Given the description of an element on the screen output the (x, y) to click on. 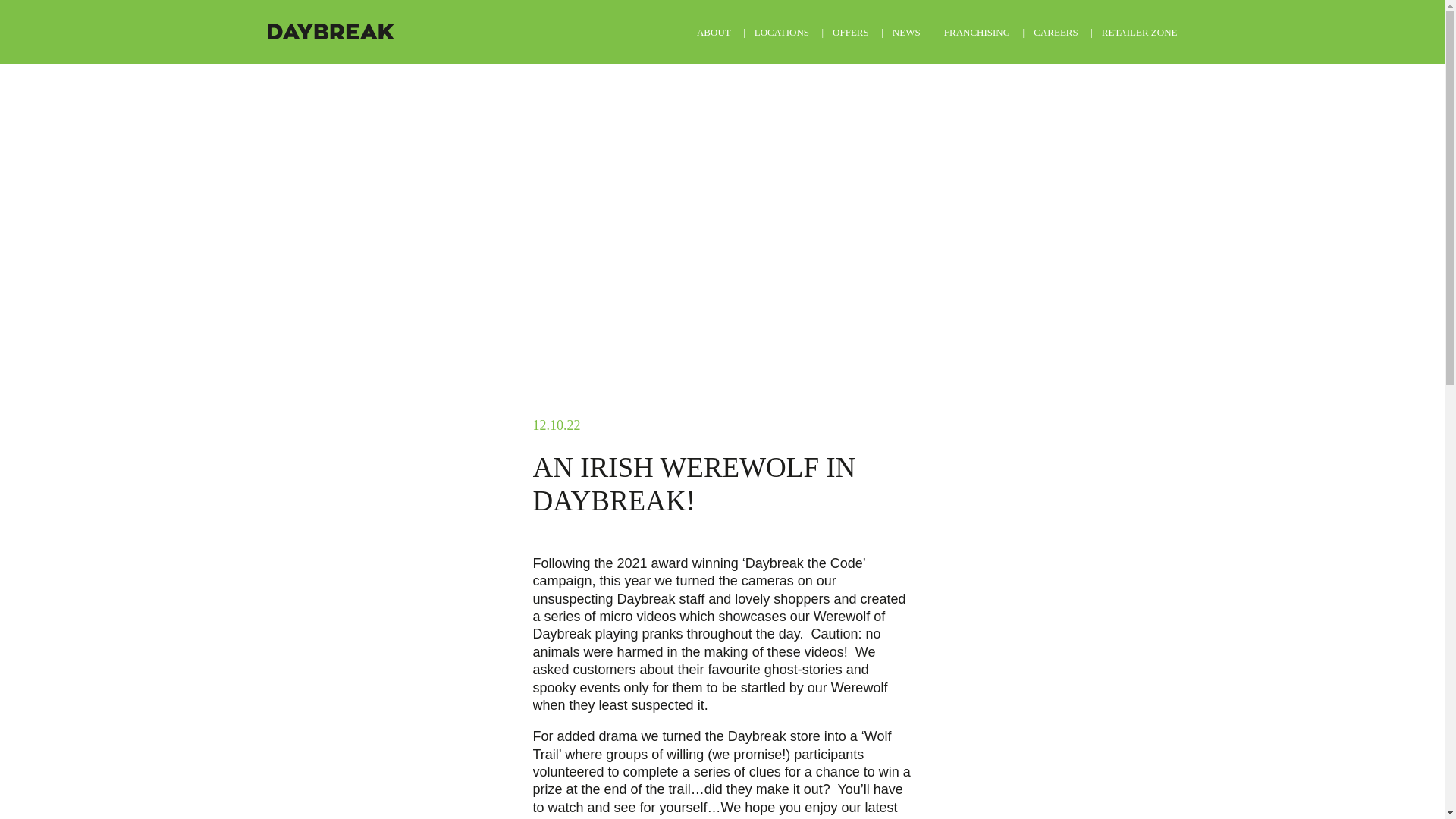
Daybreak (329, 32)
FRANCHISING (976, 31)
NEWS (906, 31)
CAREERS (1055, 31)
LOCATIONS (781, 31)
RETAILER ZONE (1139, 31)
OFFERS (850, 31)
ABOUT (713, 31)
